Given the description of an element on the screen output the (x, y) to click on. 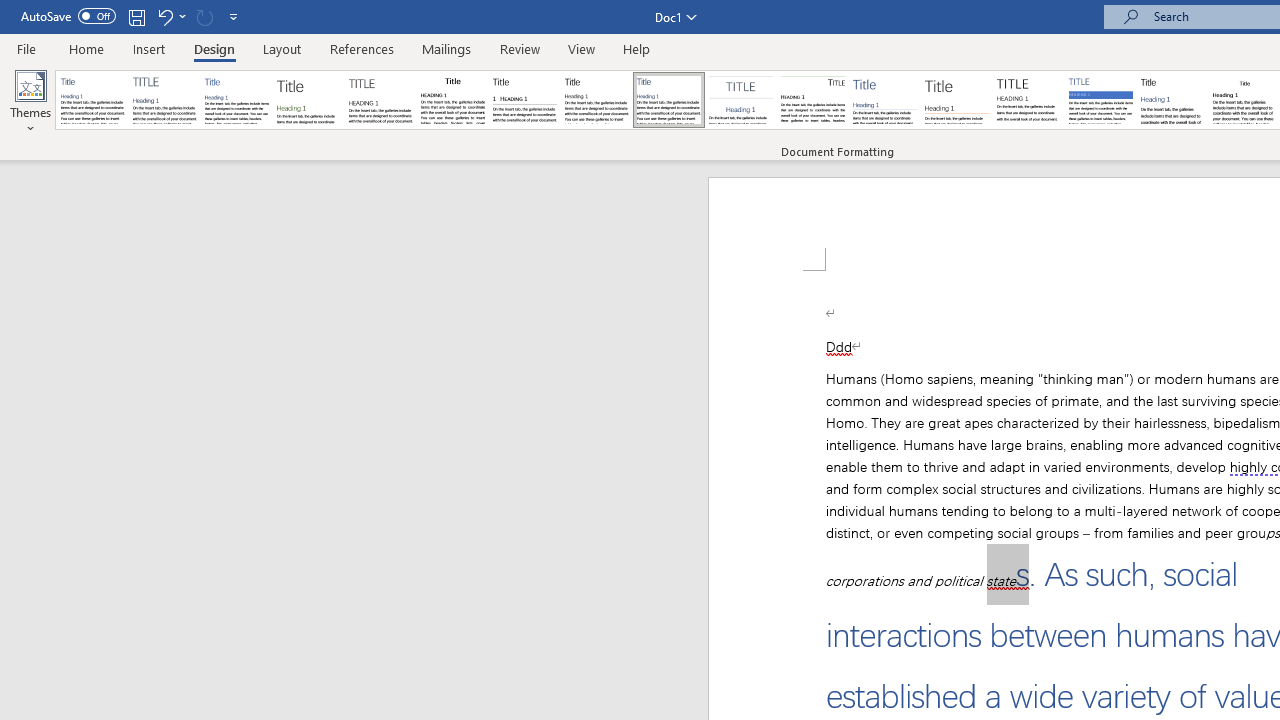
Minimalist (1028, 100)
Black & White (Word 2013) (596, 100)
Lines (Distinctive) (812, 100)
Lines (Simple) (884, 100)
Undo Outline Move Up (164, 15)
Undo Outline Move Up (170, 15)
Can't Repeat (204, 15)
Black & White (Numbered) (524, 100)
